Given the description of an element on the screen output the (x, y) to click on. 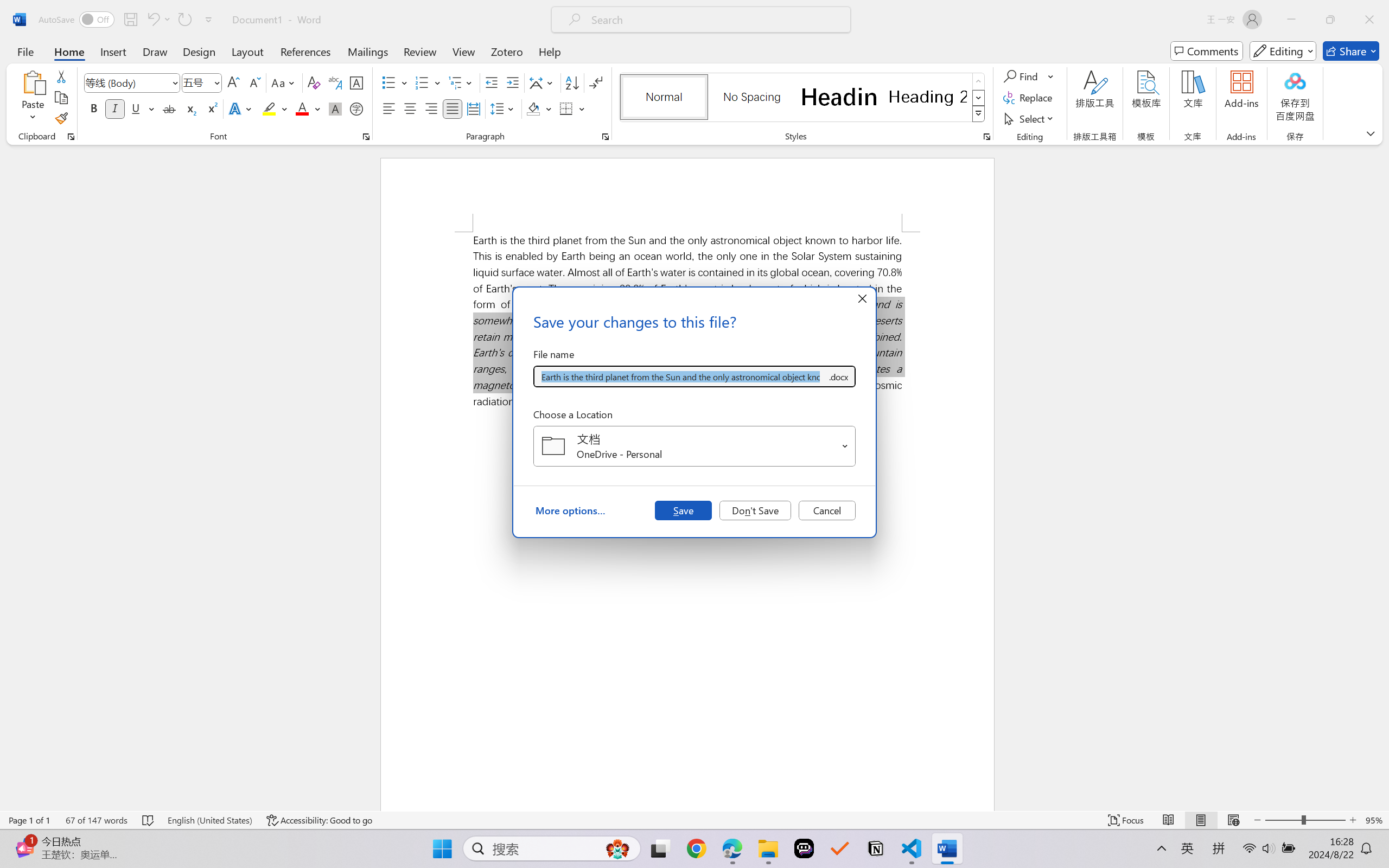
Save as type (837, 376)
Font Color Red (302, 108)
Format Painter (60, 118)
Heading 2 (927, 96)
Copy (60, 97)
Justify (452, 108)
